Given the description of an element on the screen output the (x, y) to click on. 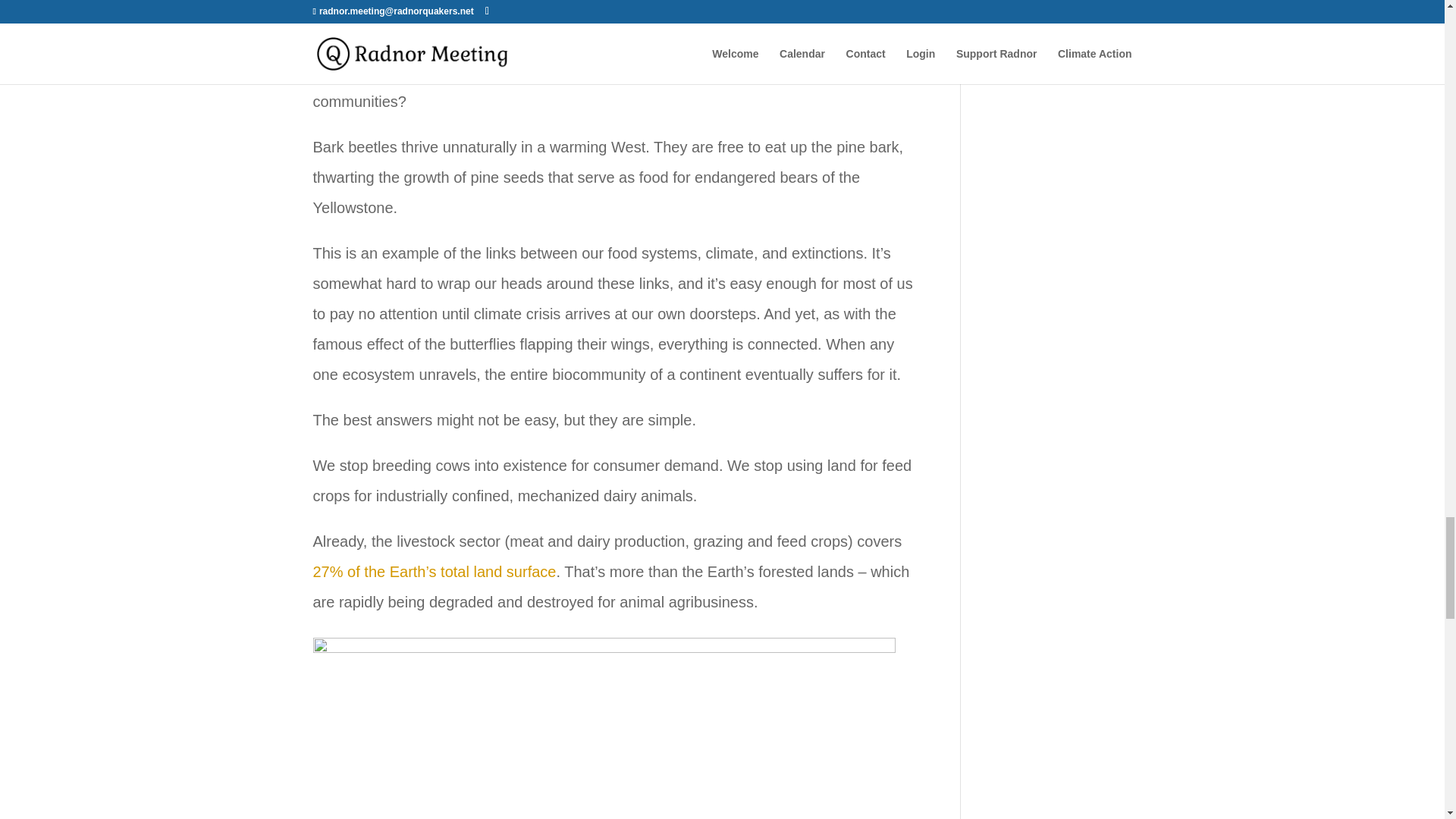
strange disasters (697, 40)
